Given the description of an element on the screen output the (x, y) to click on. 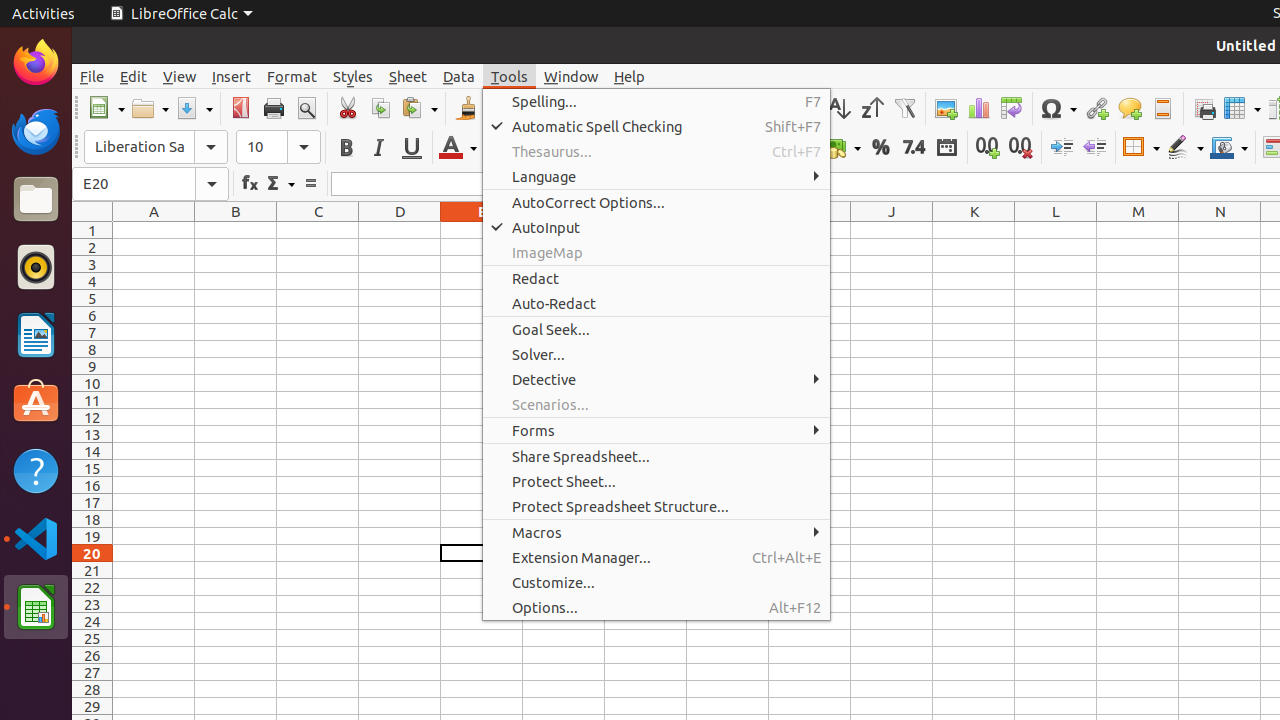
E1 Element type: table-cell (482, 230)
Border Color Element type: push-button (1229, 147)
Macros Element type: menu (656, 532)
Share Spreadsheet... Element type: menu-item (656, 456)
D1 Element type: table-cell (400, 230)
